Given the description of an element on the screen output the (x, y) to click on. 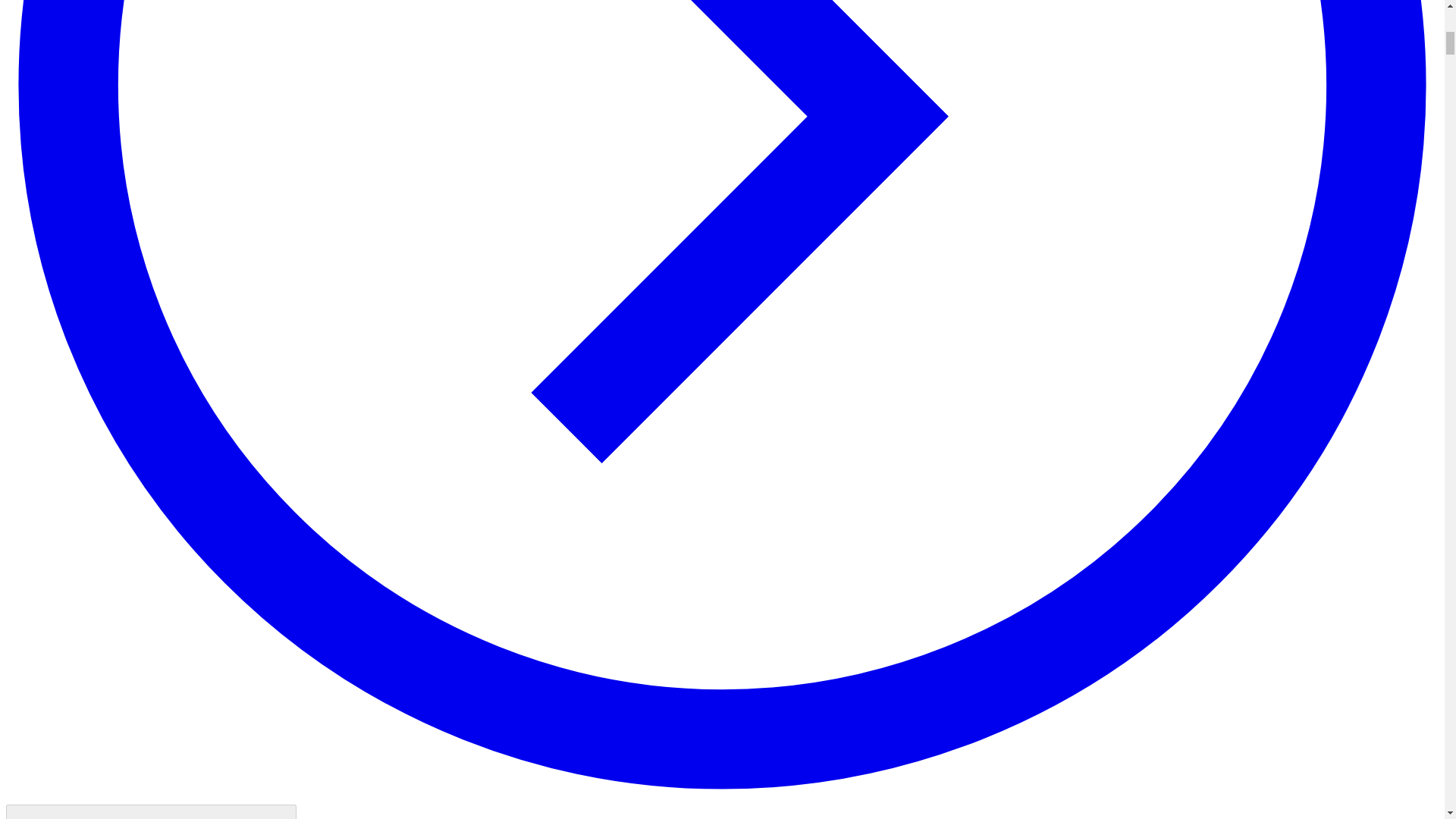
Close alert (151, 811)
